Given the description of an element on the screen output the (x, y) to click on. 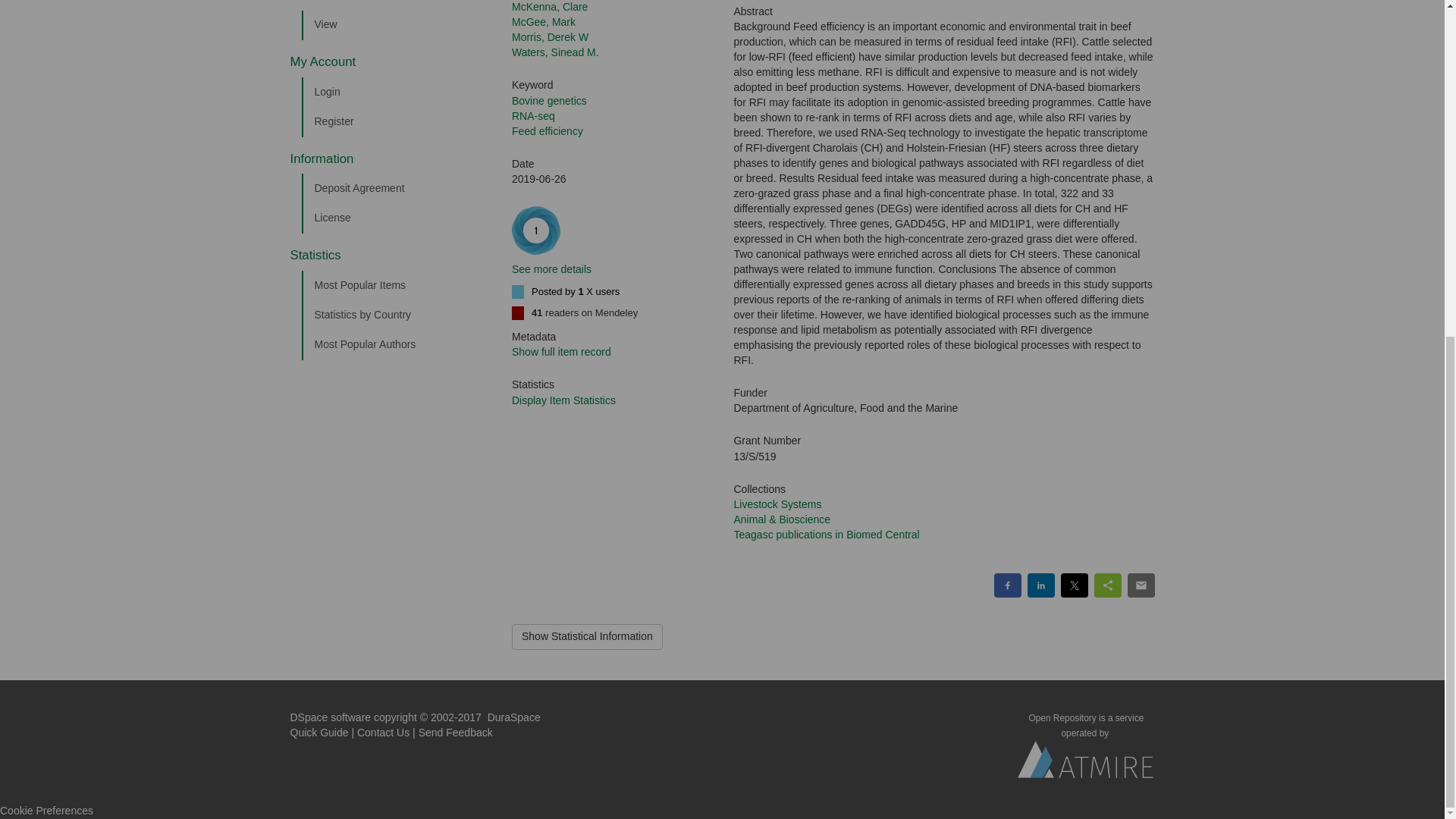
License (395, 218)
Statistics by Country (395, 315)
Profiles (395, 5)
Most Popular Items (395, 286)
Login (395, 91)
Register (395, 122)
Most Popular Authors (395, 345)
View (395, 24)
Atmire NV (1085, 763)
Deposit Agreement (395, 188)
